Given the description of an element on the screen output the (x, y) to click on. 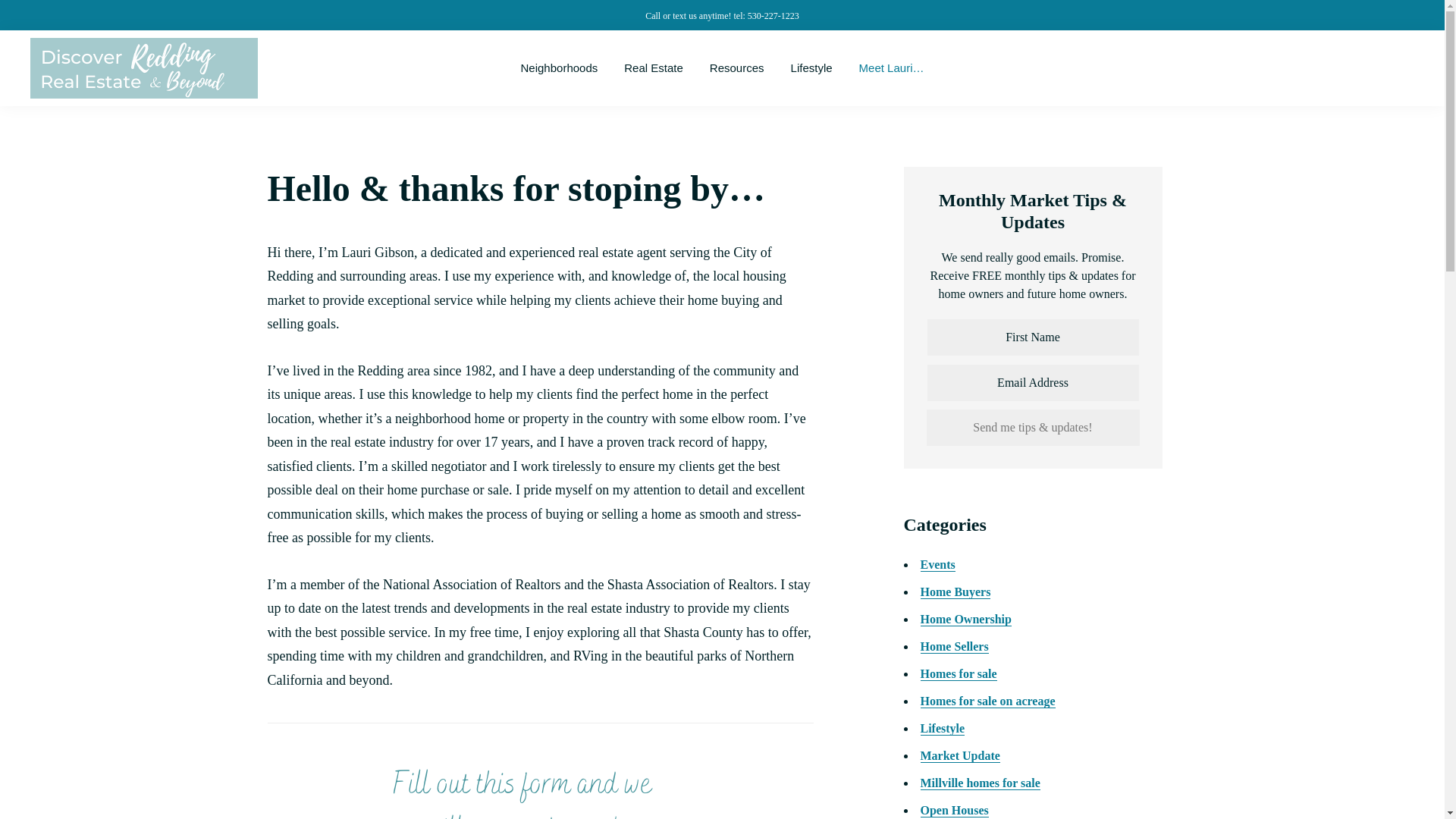
Resources (737, 67)
Neighborhoods (559, 67)
Events (937, 564)
Home Ownership (965, 619)
Home Buyers (955, 591)
Real Estate (653, 67)
tel: 530-227-1223 (765, 15)
Lifestyle (811, 67)
Home Sellers (954, 646)
